Given the description of an element on the screen output the (x, y) to click on. 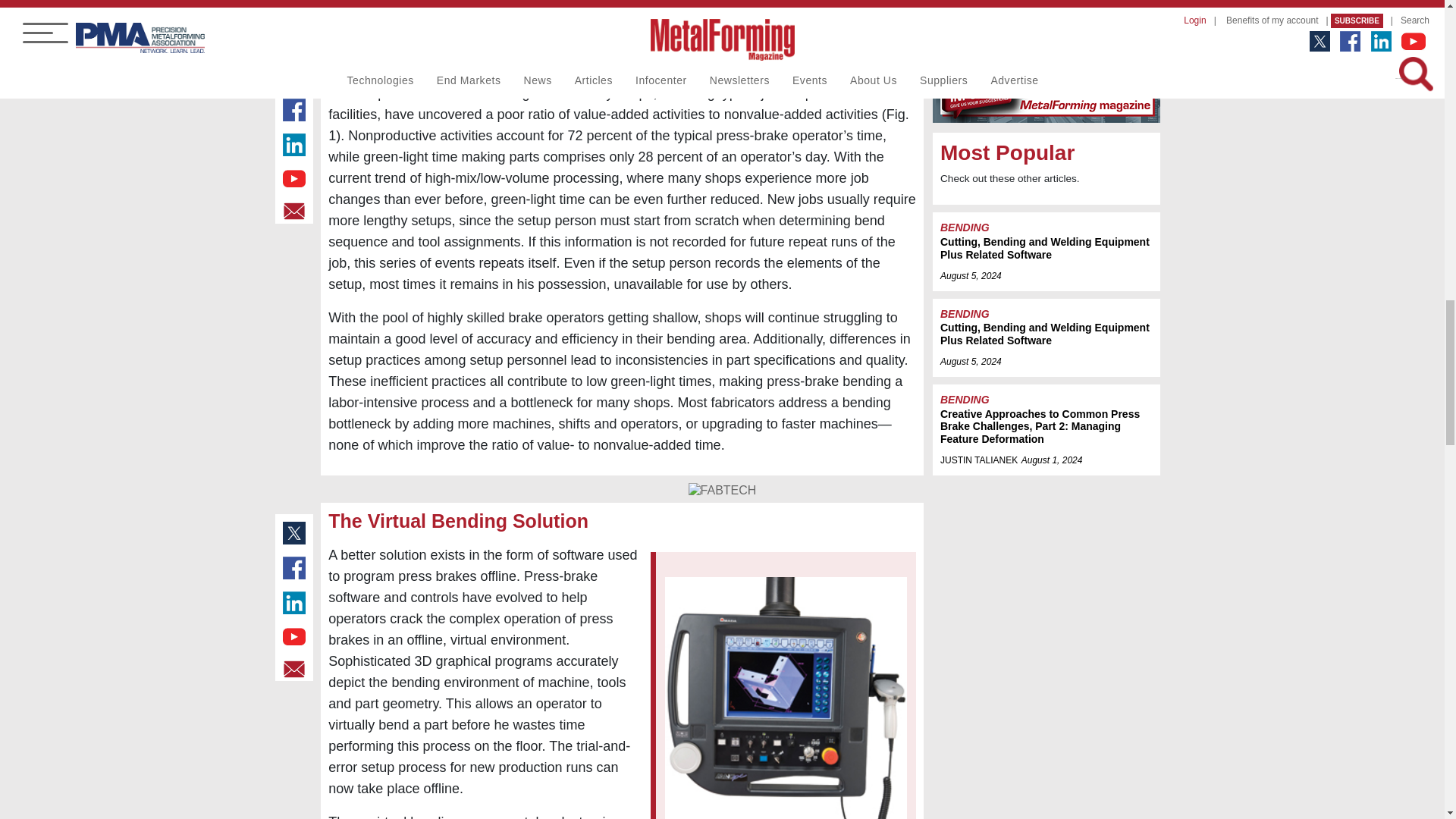
FABTECH (722, 490)
